Given the description of an element on the screen output the (x, y) to click on. 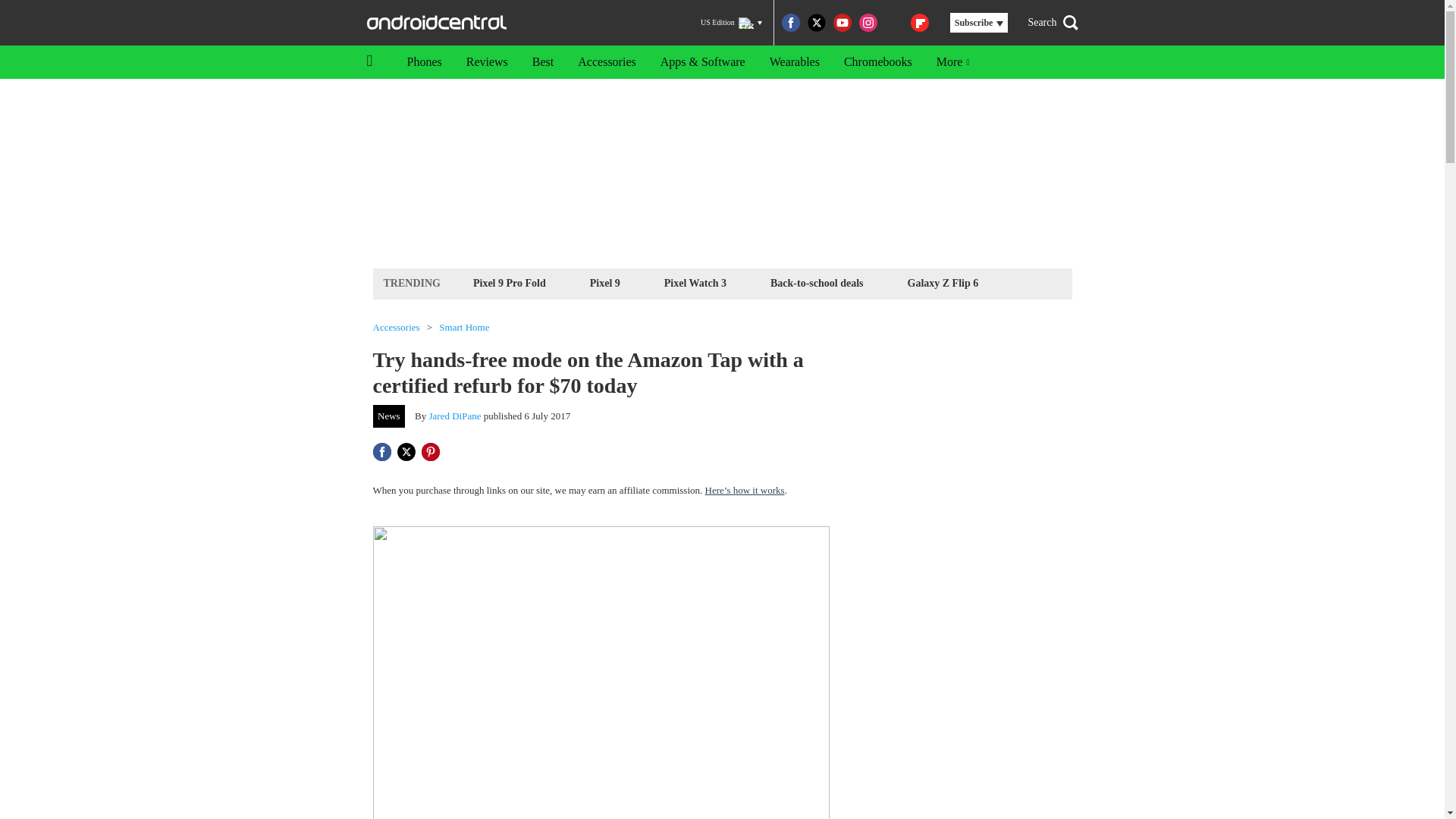
News (389, 415)
Jared DiPane (455, 415)
Pixel 9 Pro Fold (509, 282)
Pixel 9 (605, 282)
Smart Home (464, 327)
Best (542, 61)
Chromebooks (877, 61)
US Edition (731, 22)
Wearables (794, 61)
Reviews (486, 61)
